Given the description of an element on the screen output the (x, y) to click on. 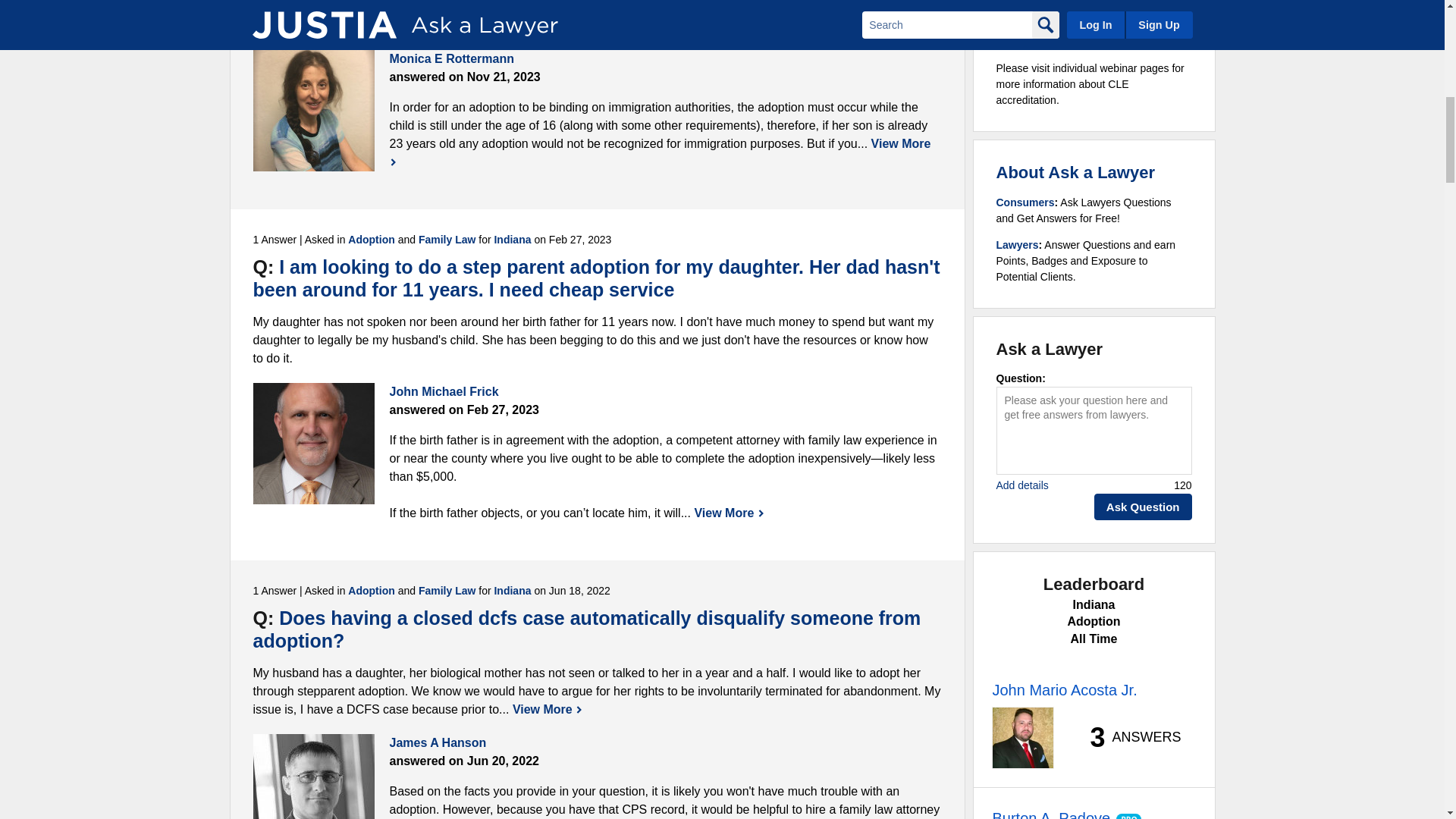
Monica E Rottermann (313, 110)
James A Hanson (313, 776)
John Michael Frick (313, 443)
